Given the description of an element on the screen output the (x, y) to click on. 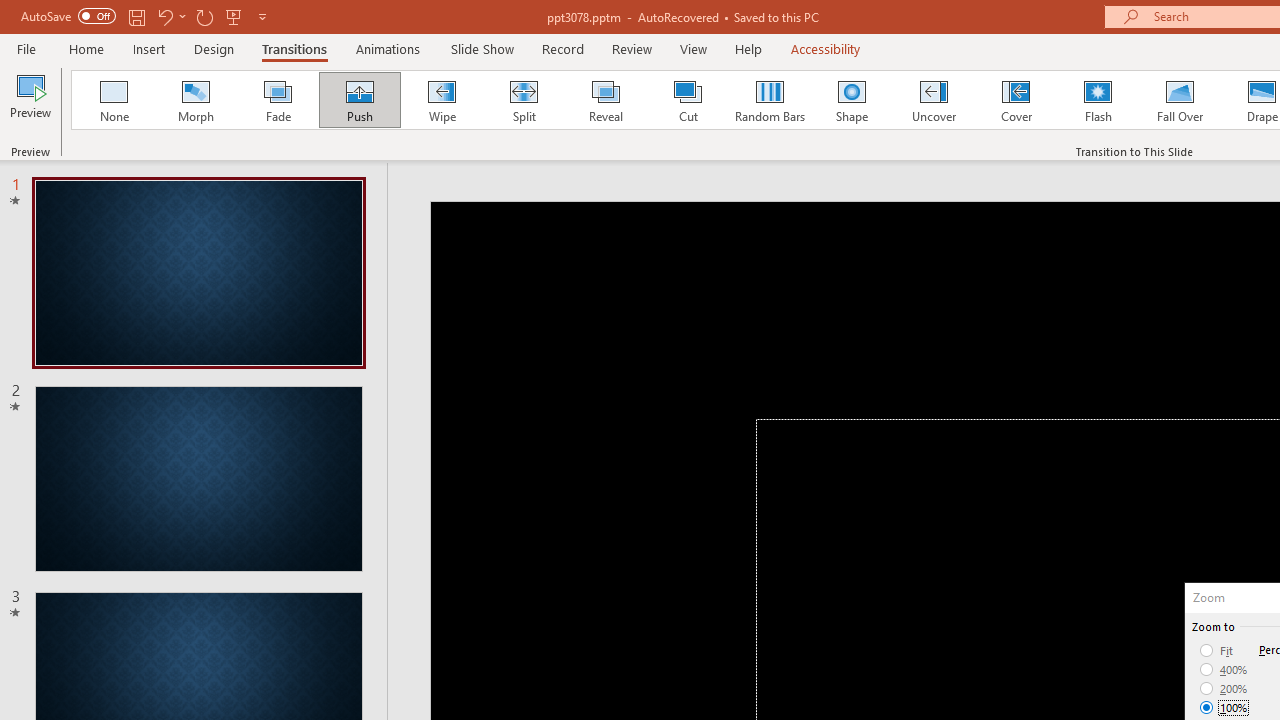
200% (1224, 688)
Uncover (934, 100)
None (113, 100)
400% (1224, 669)
Random Bars (770, 100)
